Given the description of an element on the screen output the (x, y) to click on. 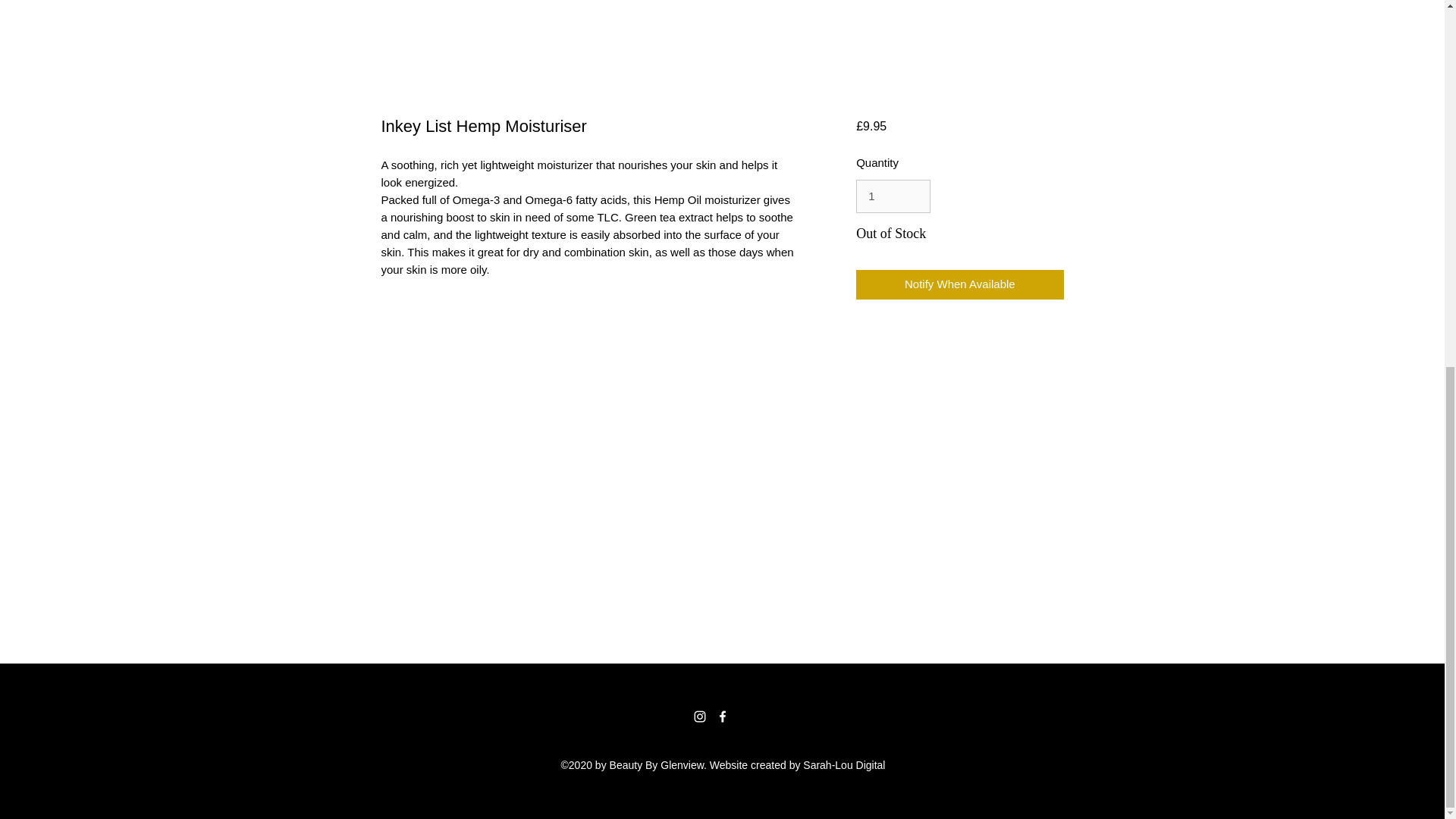
1 (893, 195)
